Given the description of an element on the screen output the (x, y) to click on. 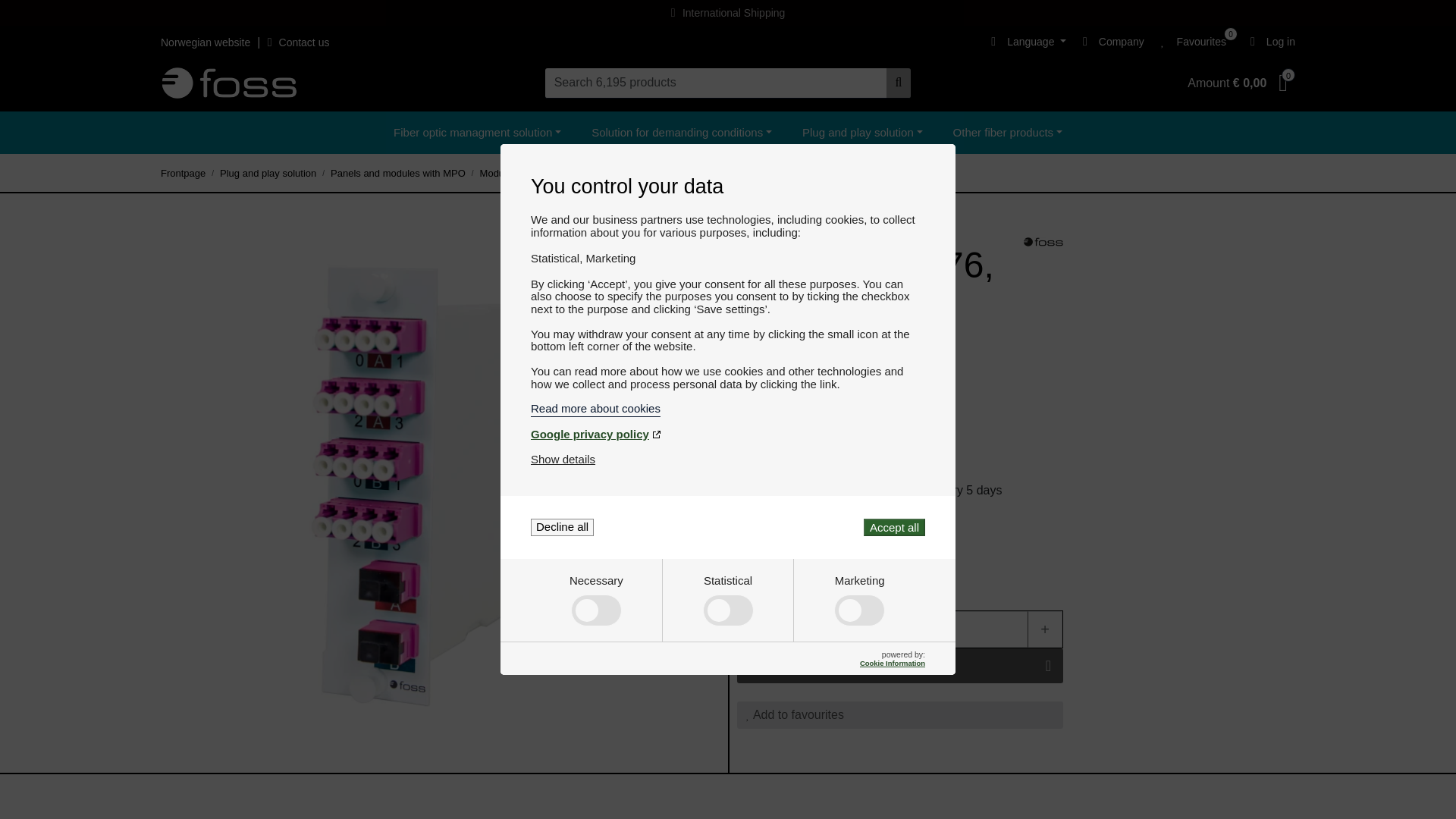
Show details (563, 459)
Read more about cookies (727, 408)
Cookie Information (892, 663)
1 (898, 628)
Decline all (562, 527)
Google privacy policy (727, 433)
Accept all (893, 527)
